Given the description of an element on the screen output the (x, y) to click on. 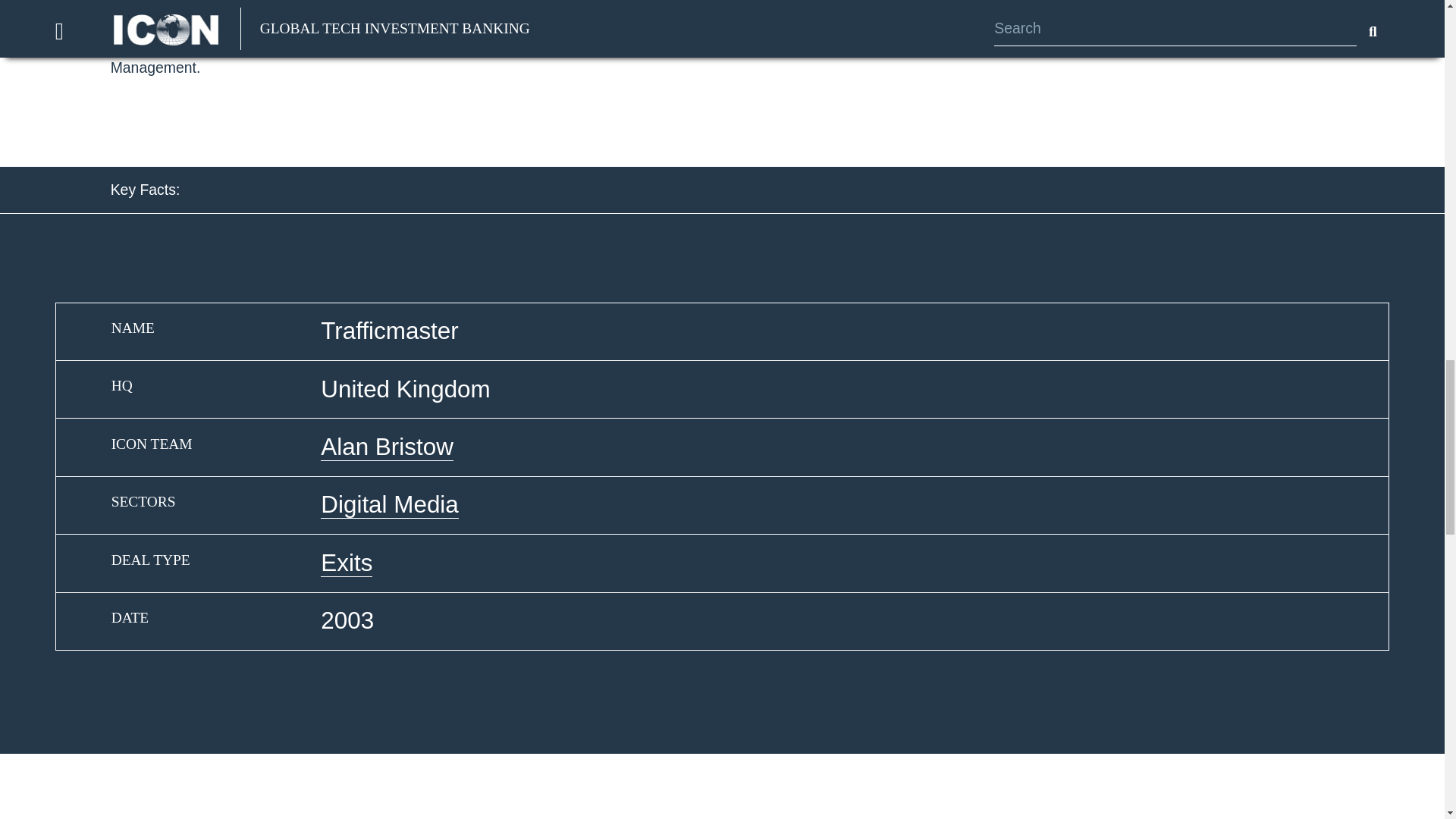
Digital Media (389, 504)
Alan Bristow (386, 447)
Exits (346, 563)
